Given the description of an element on the screen output the (x, y) to click on. 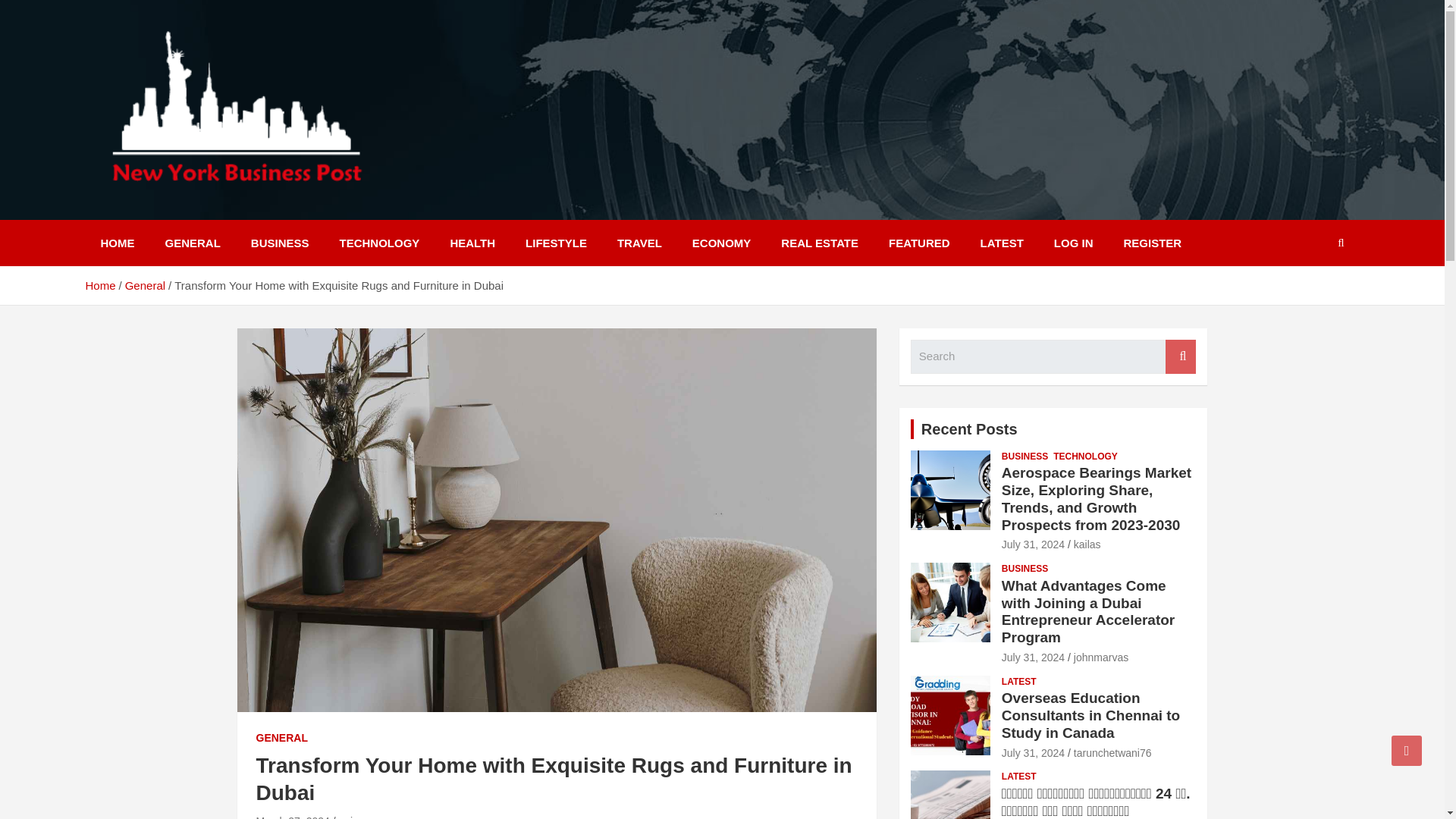
uois (347, 816)
REAL ESTATE (819, 243)
July 31, 2024 (1032, 544)
LOG IN (1073, 243)
BUSINESS (279, 243)
Recent Posts (969, 428)
TRAVEL (639, 243)
ECONOMY (722, 243)
TECHNOLOGY (1085, 456)
REGISTER (1152, 243)
kailas (1087, 544)
Home (99, 285)
